Given the description of an element on the screen output the (x, y) to click on. 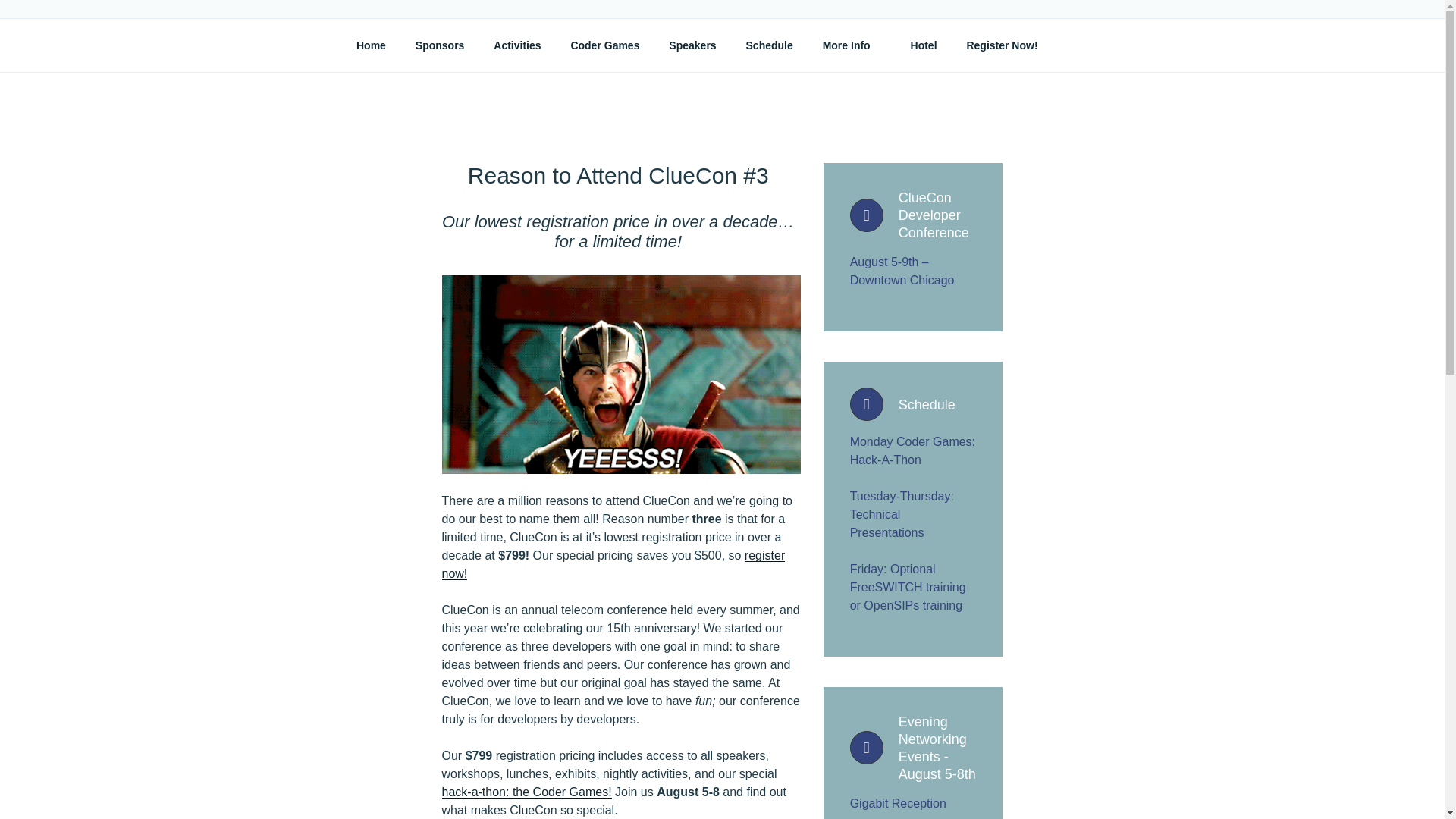
Speakers (692, 45)
More Info (851, 45)
Schedule (769, 45)
Register Now! (1002, 45)
Home (370, 45)
Activities (517, 45)
Sponsors (439, 45)
register now! (612, 563)
Coder Games (604, 45)
Hotel (923, 45)
hack-a-thon: the Coder Games! (526, 791)
